Given the description of an element on the screen output the (x, y) to click on. 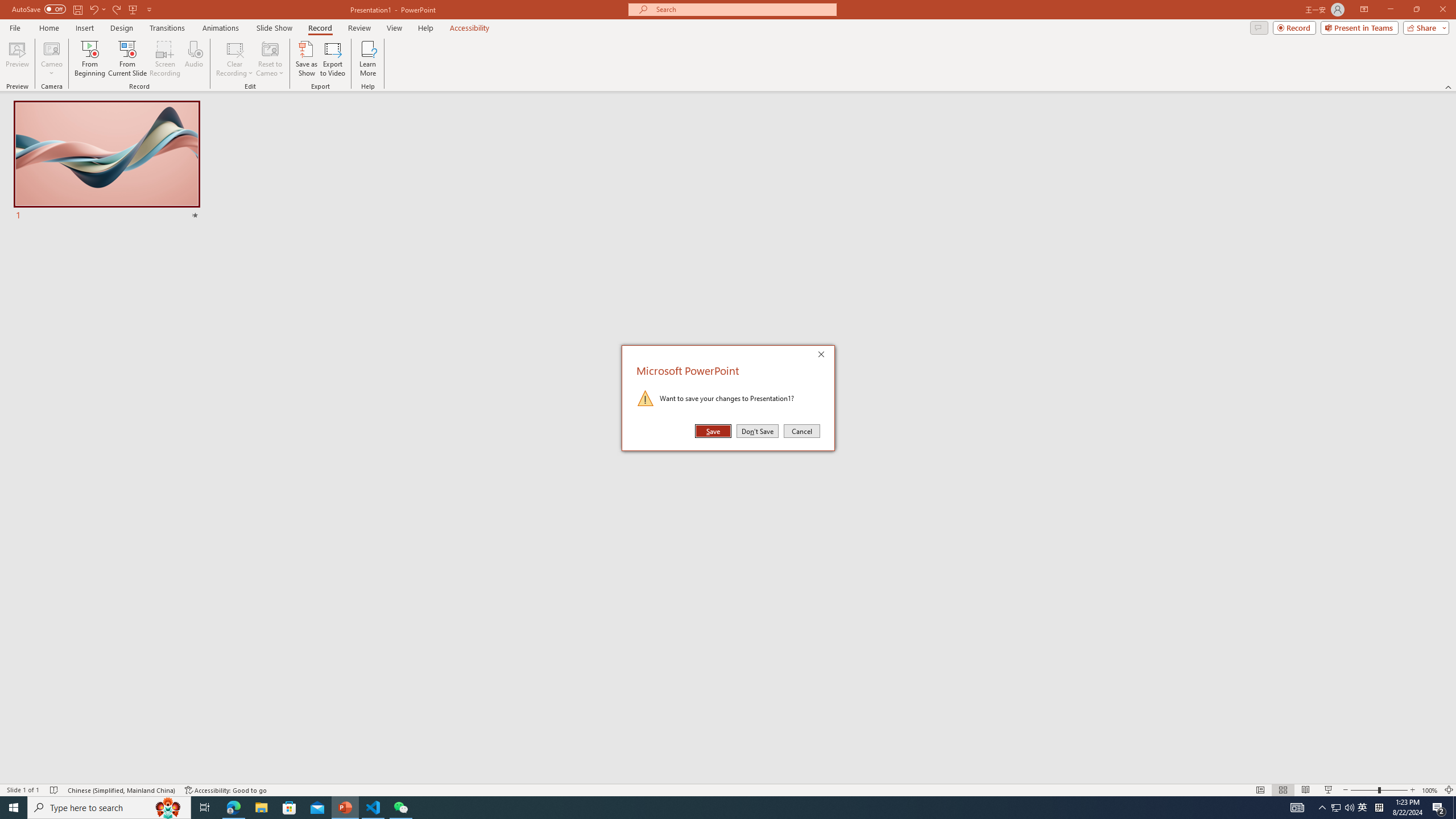
Save as Show (306, 58)
Reset to Cameo (269, 58)
